Given the description of an element on the screen output the (x, y) to click on. 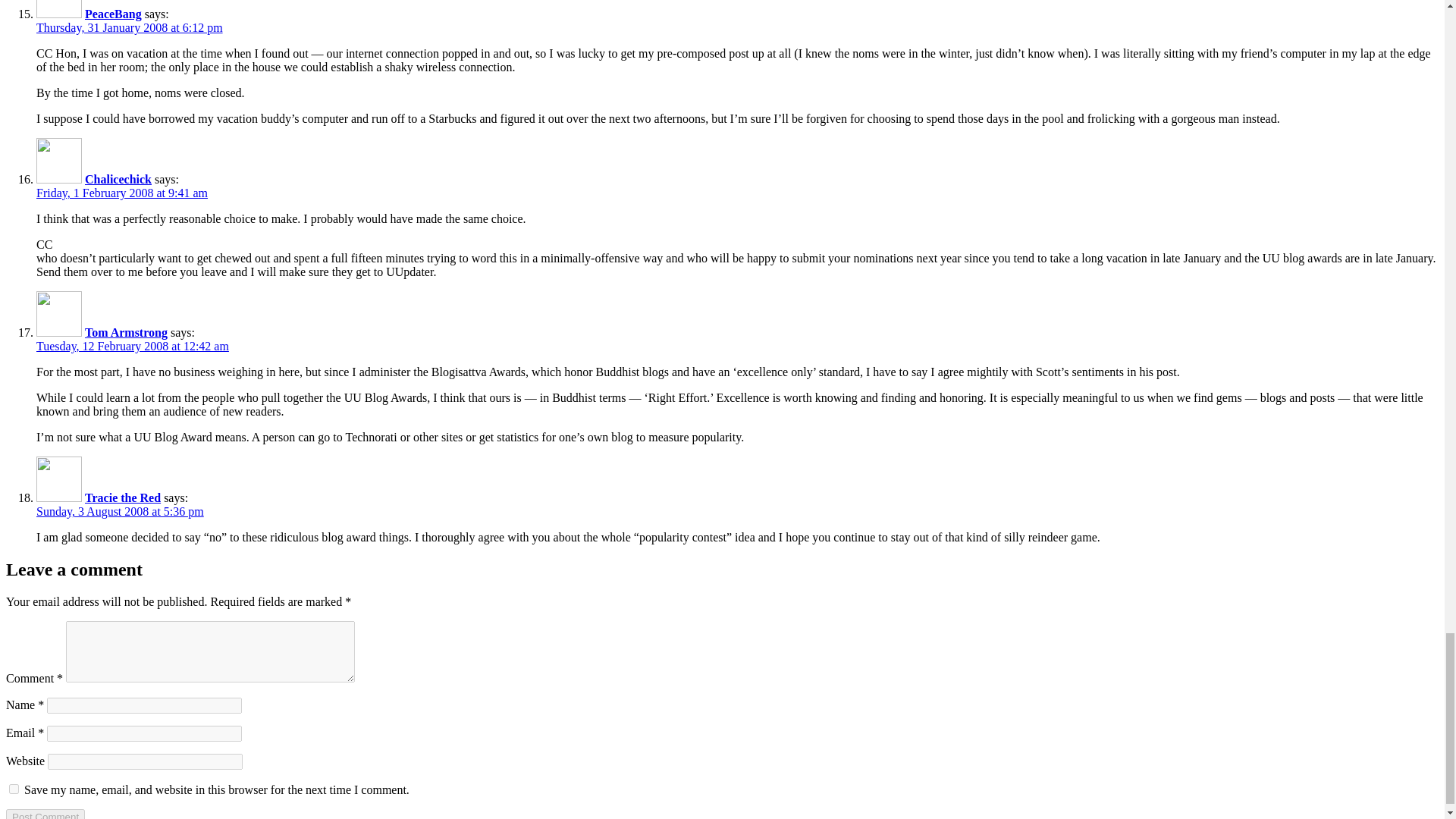
yes (13, 788)
PeaceBang (112, 13)
Thursday, 31 January 2008 at 6:12 pm (129, 27)
Chalicechick (117, 178)
